Given the description of an element on the screen output the (x, y) to click on. 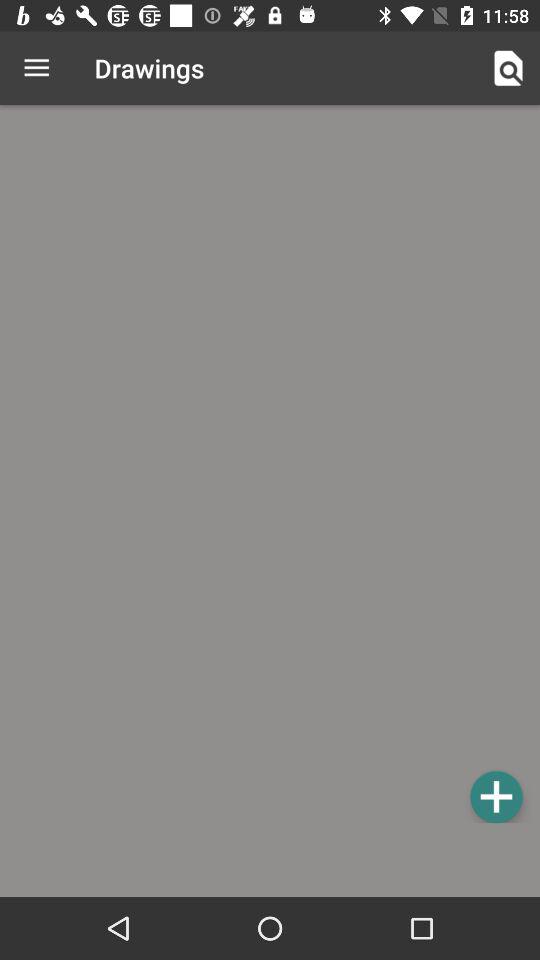
add new (496, 796)
